Given the description of an element on the screen output the (x, y) to click on. 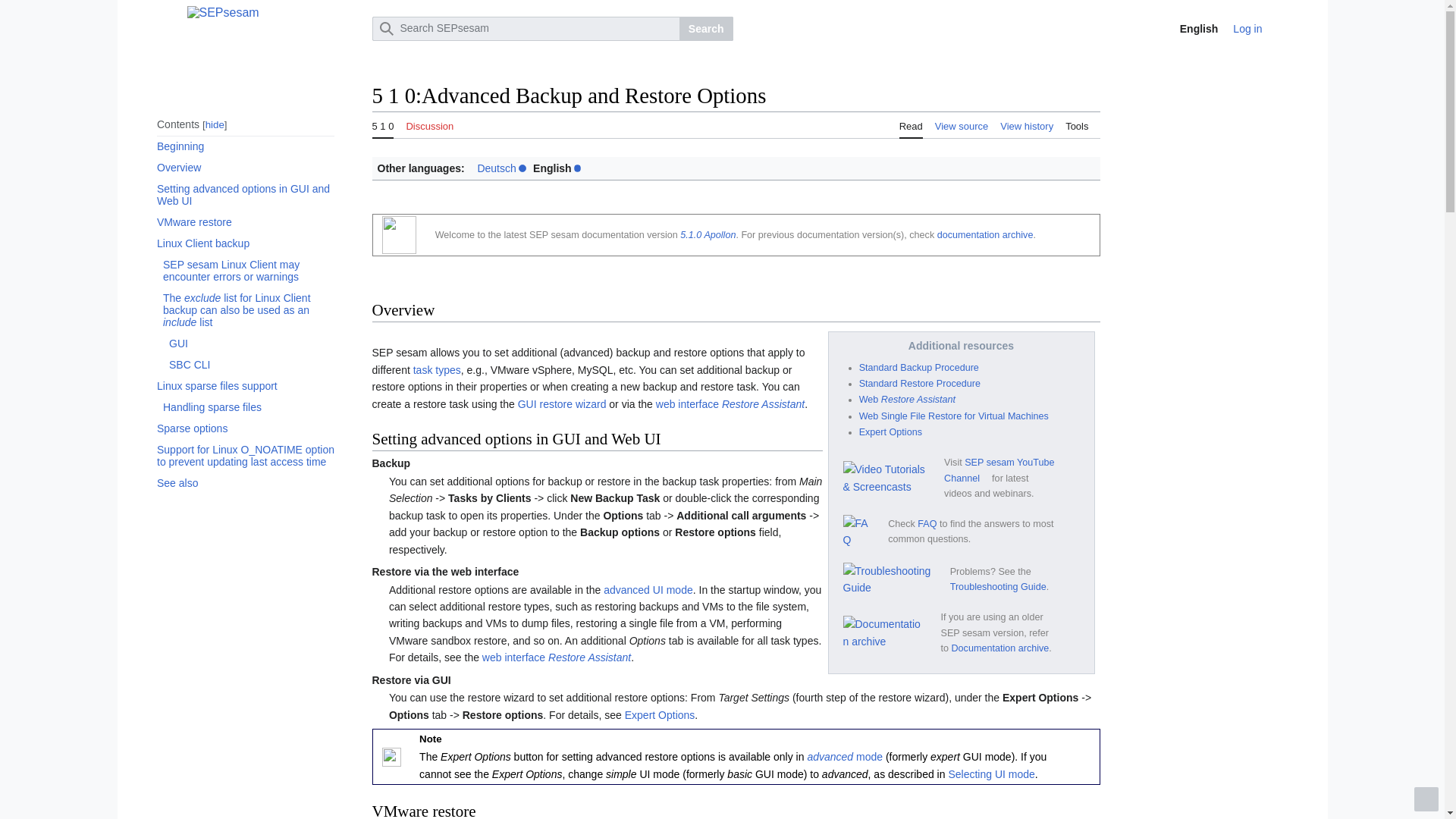
More options (1280, 28)
